Given the description of an element on the screen output the (x, y) to click on. 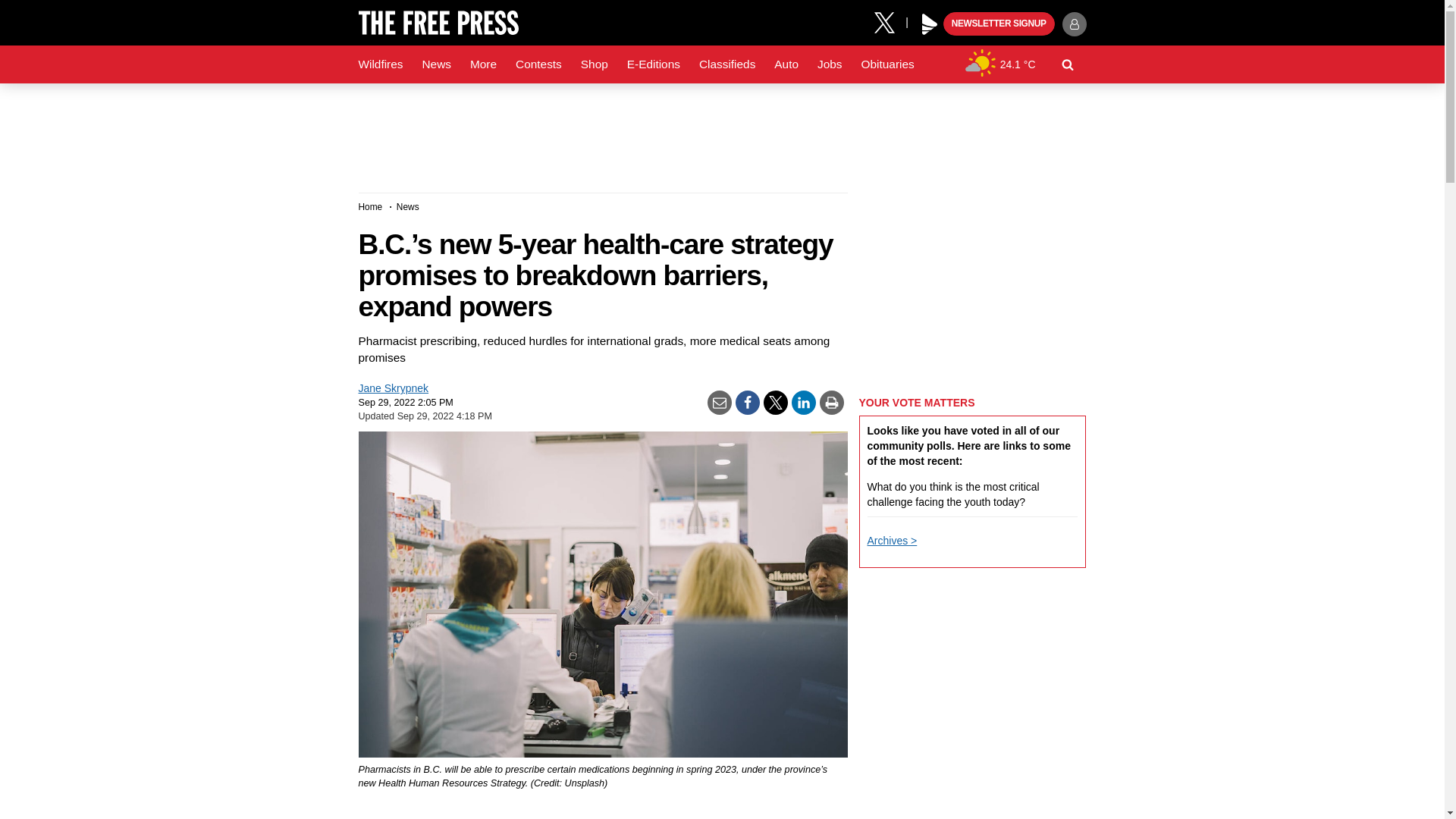
News (435, 64)
Black Press Media (929, 24)
NEWSLETTER SIGNUP (998, 24)
X (889, 21)
Wildfires (380, 64)
Play (929, 24)
